Given the description of an element on the screen output the (x, y) to click on. 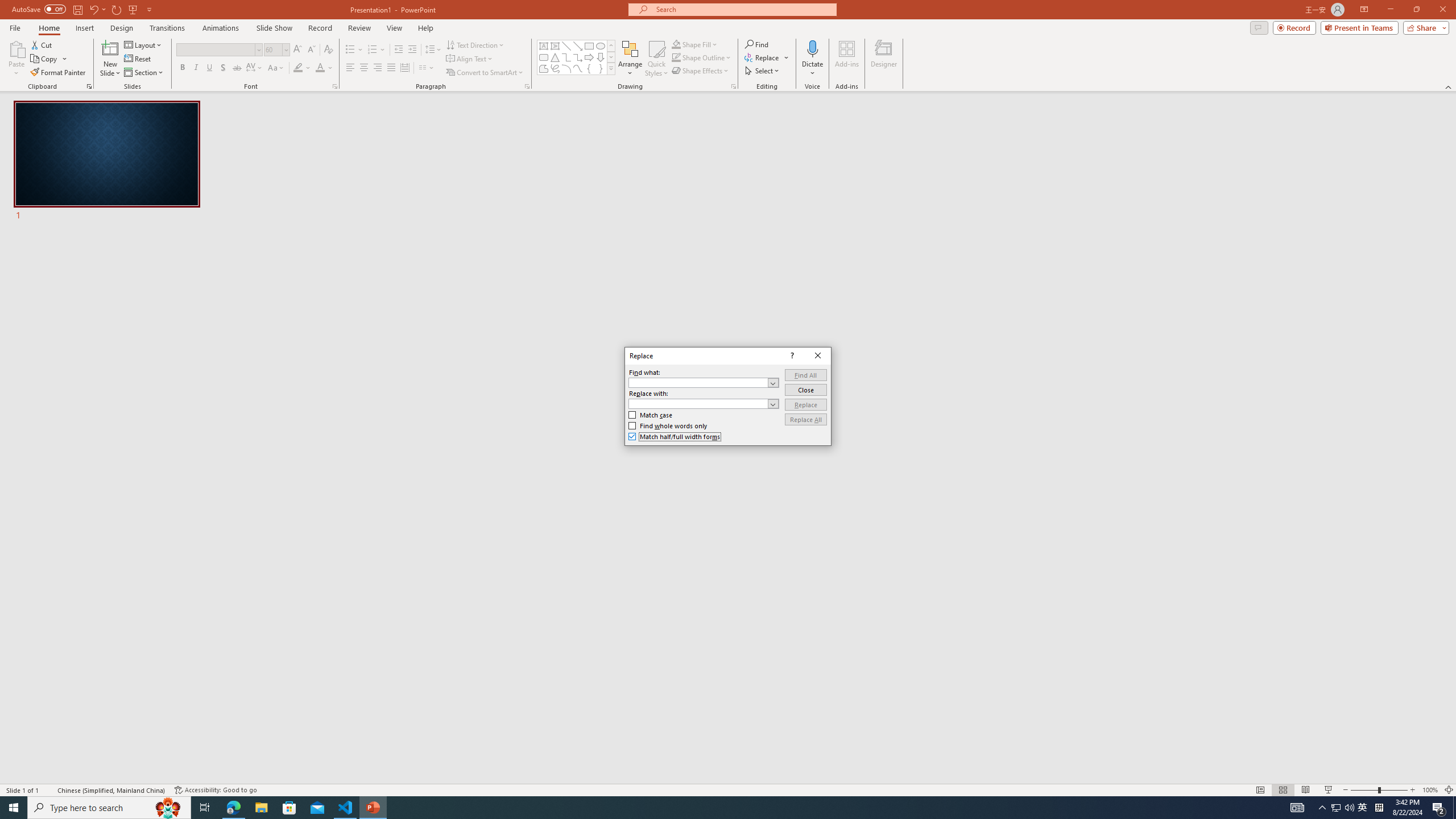
Replace All (805, 418)
